Given the description of an element on the screen output the (x, y) to click on. 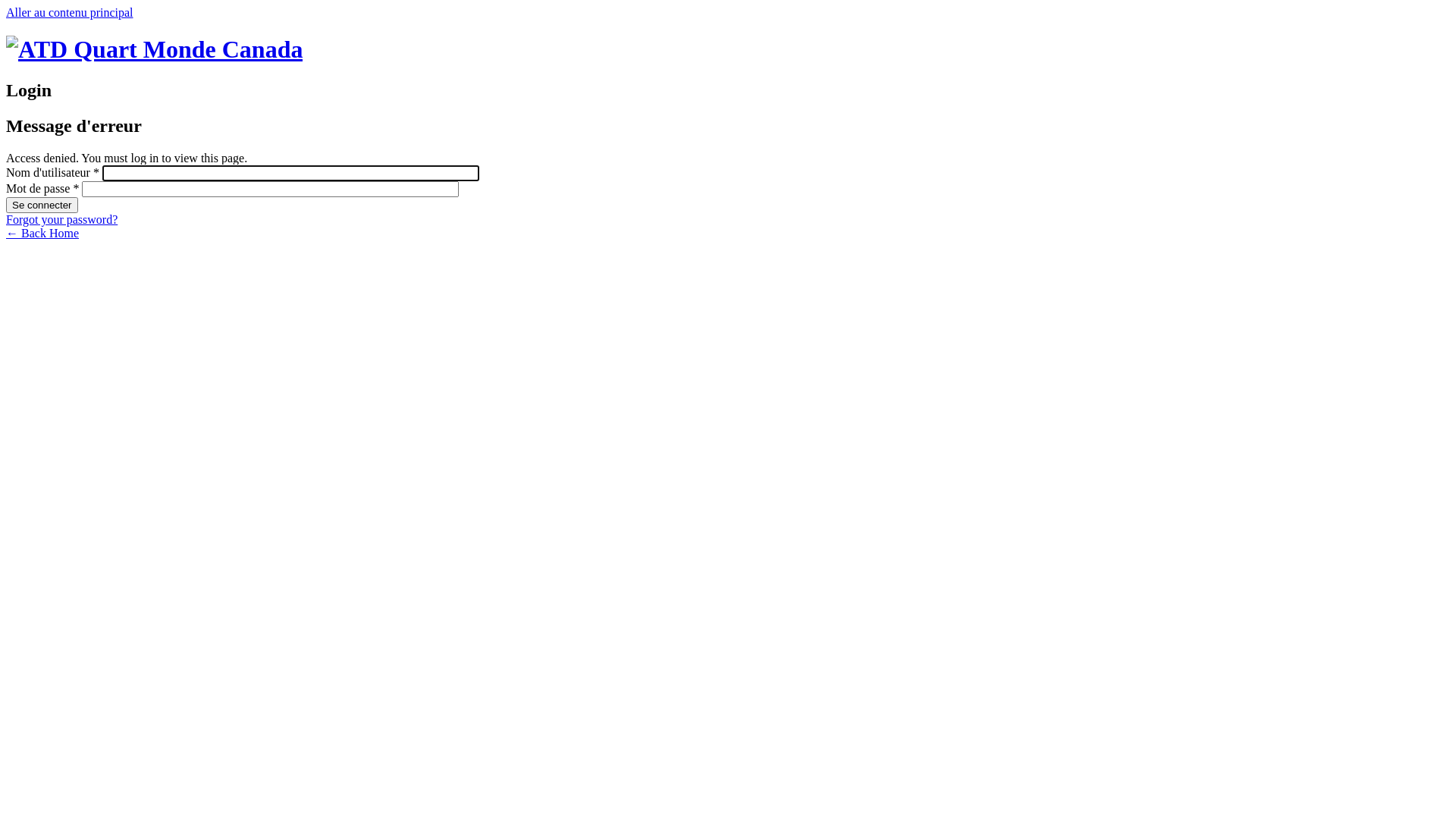
Se connecter Element type: text (42, 205)
Forgot your password? Element type: text (61, 219)
Aller au contenu principal Element type: text (69, 12)
